Given the description of an element on the screen output the (x, y) to click on. 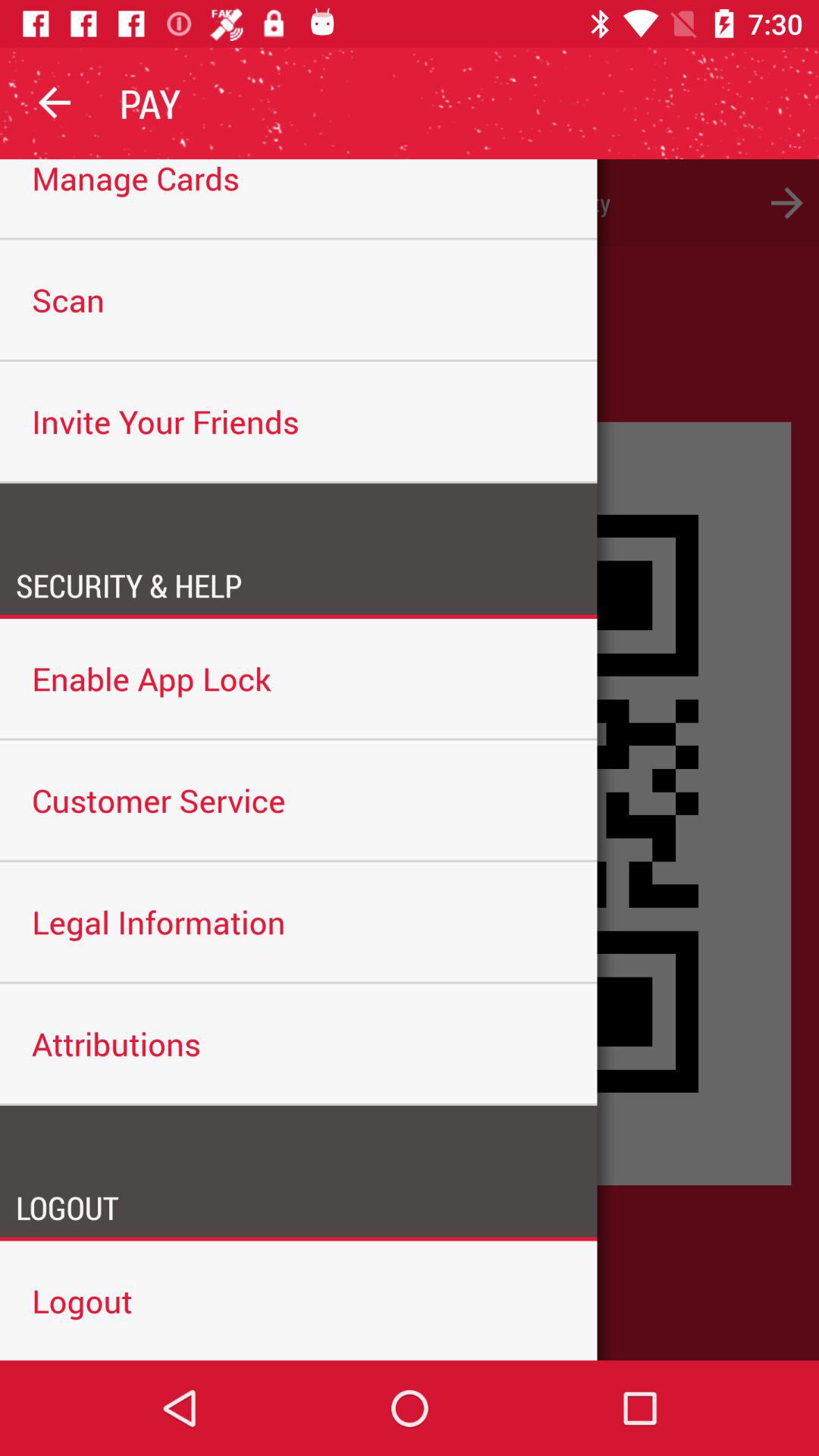
tap the icon above the please add a icon (55, 103)
